Given the description of an element on the screen output the (x, y) to click on. 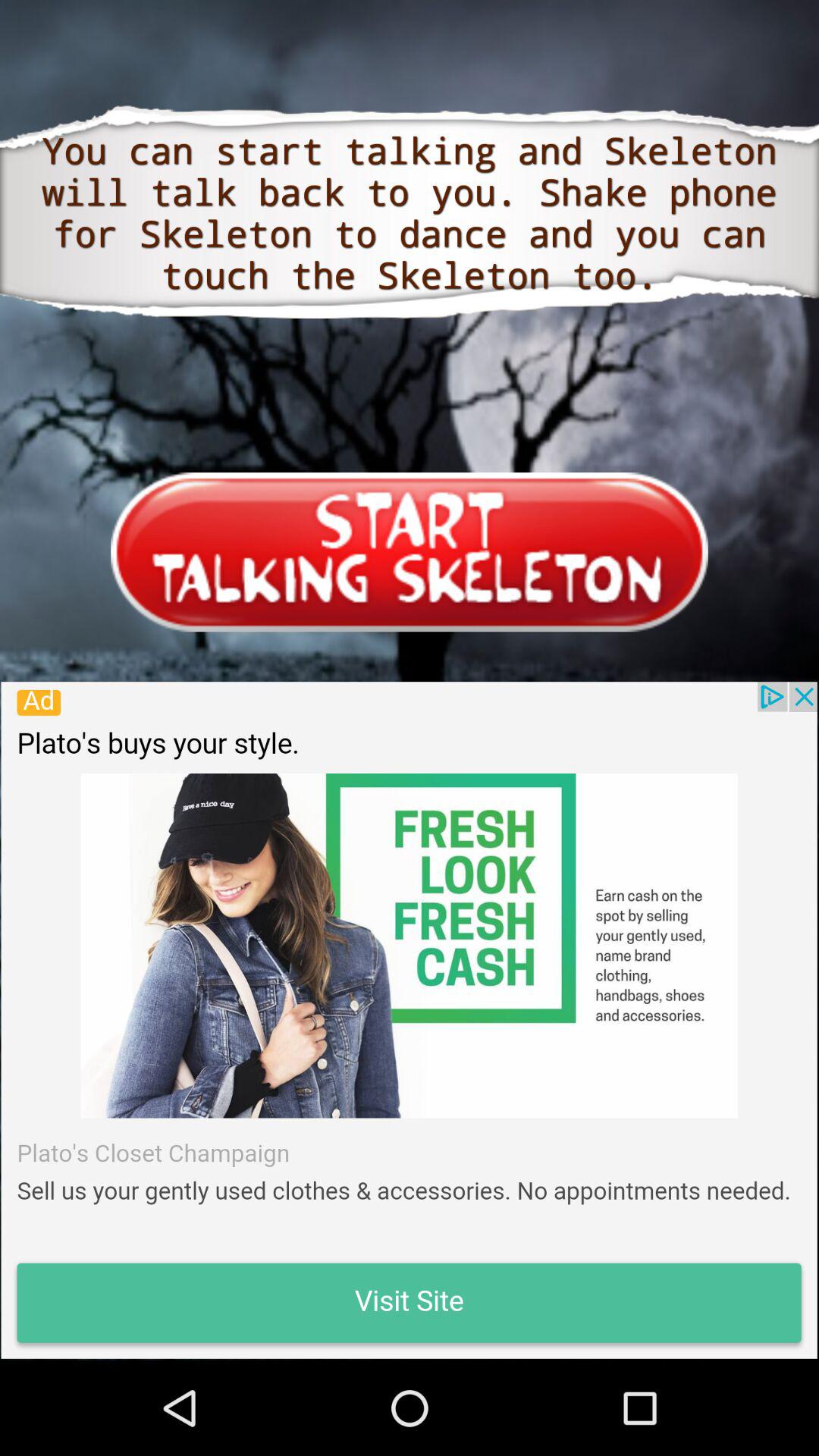
view advertisement (409, 1019)
